Given the description of an element on the screen output the (x, y) to click on. 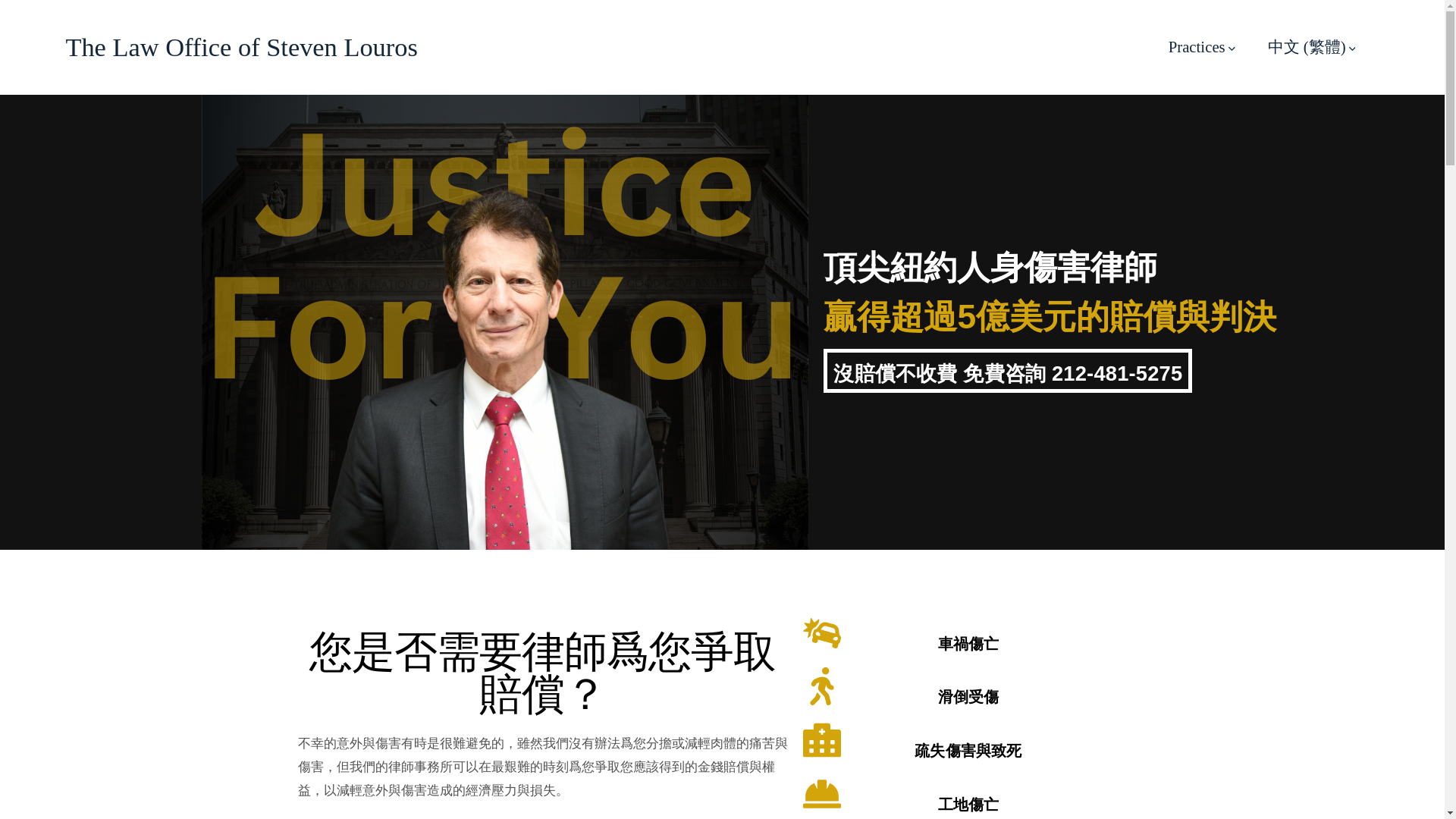
The Law Office of Steven Louros (240, 47)
Practices (1201, 46)
